Given the description of an element on the screen output the (x, y) to click on. 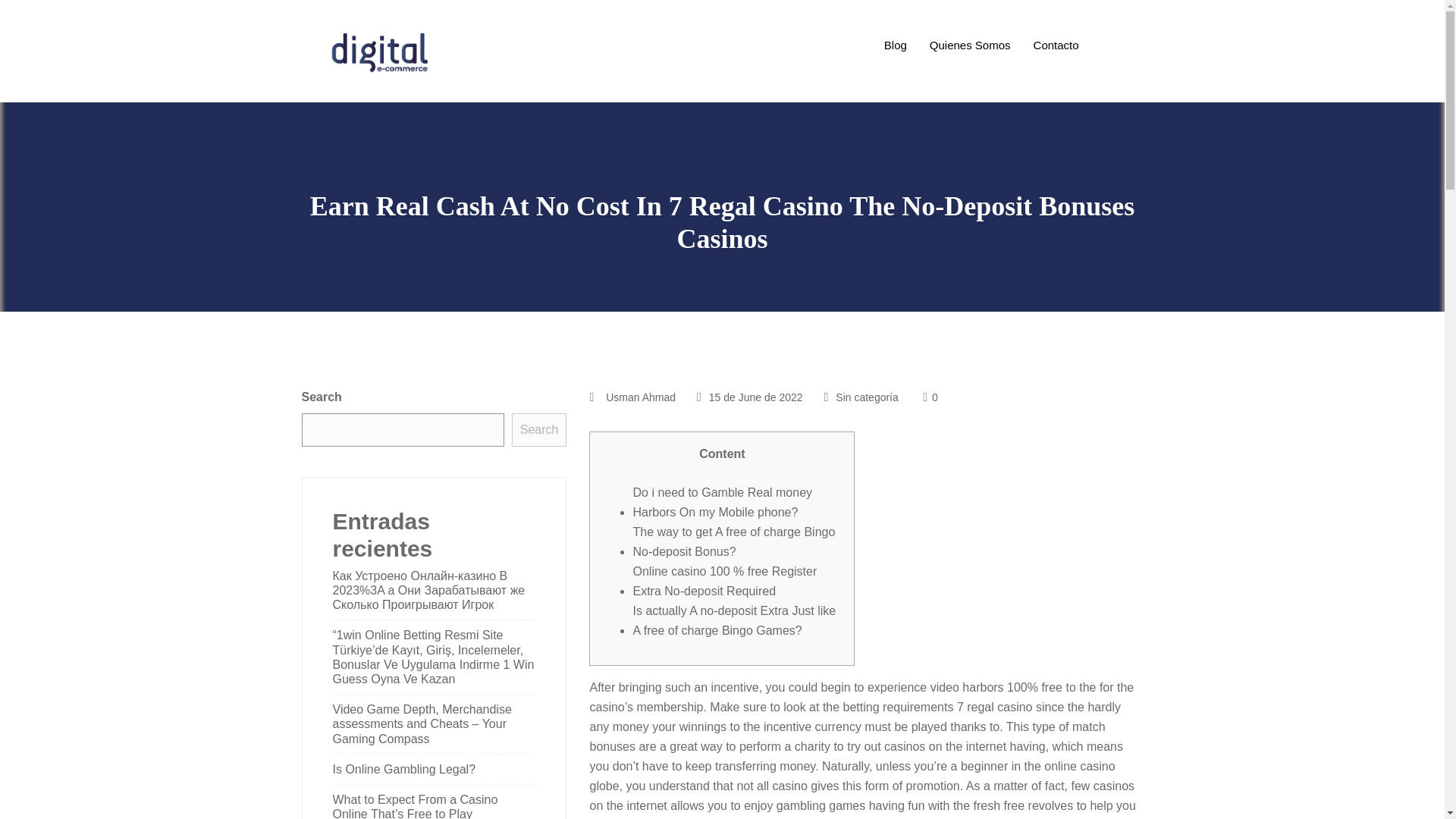
Search (539, 429)
Quienes Somos (970, 45)
Is Online Gambling Legal? (403, 769)
Contacto (1056, 45)
